Given the description of an element on the screen output the (x, y) to click on. 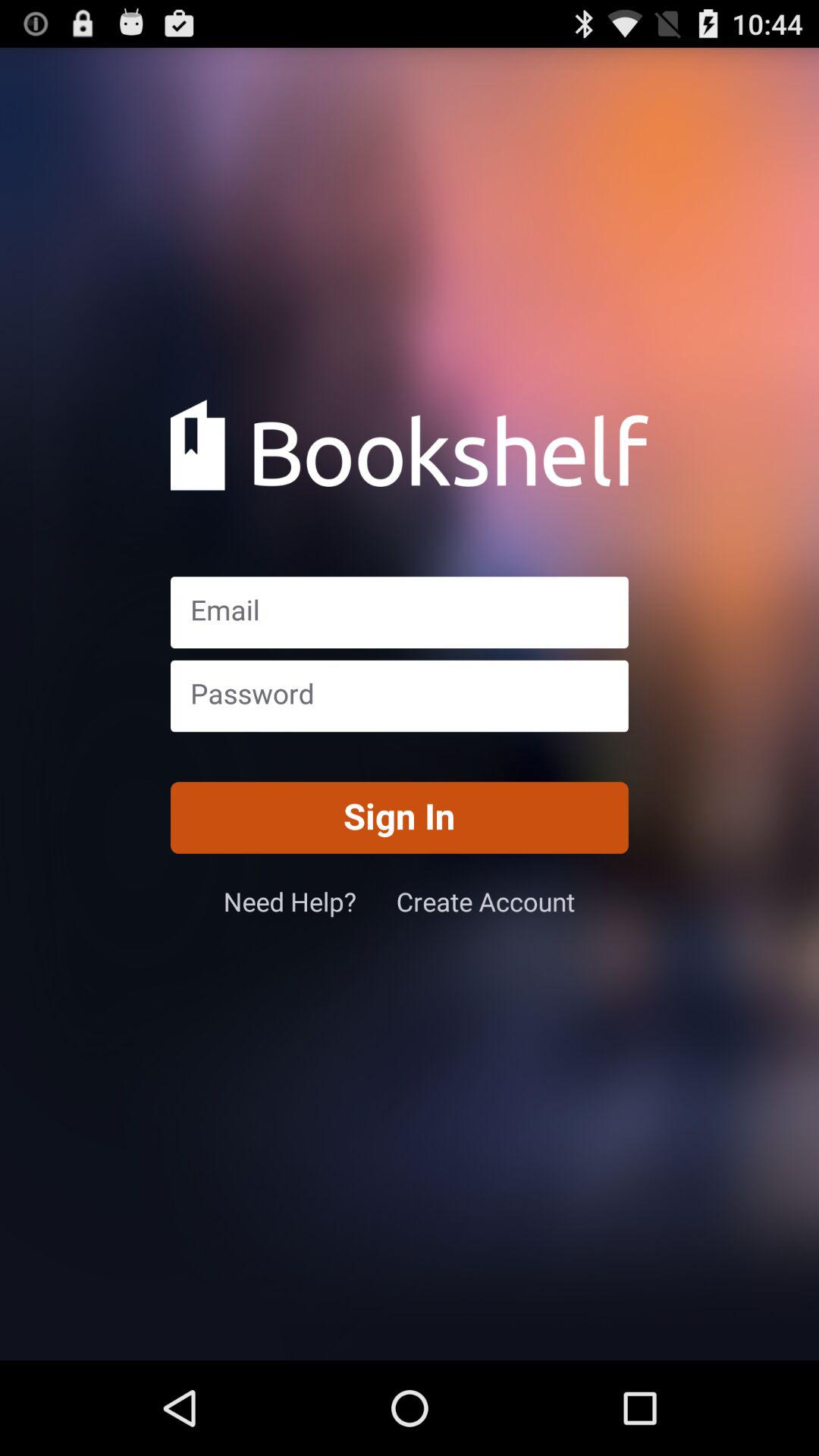
swipe until the sign in item (399, 817)
